Given the description of an element on the screen output the (x, y) to click on. 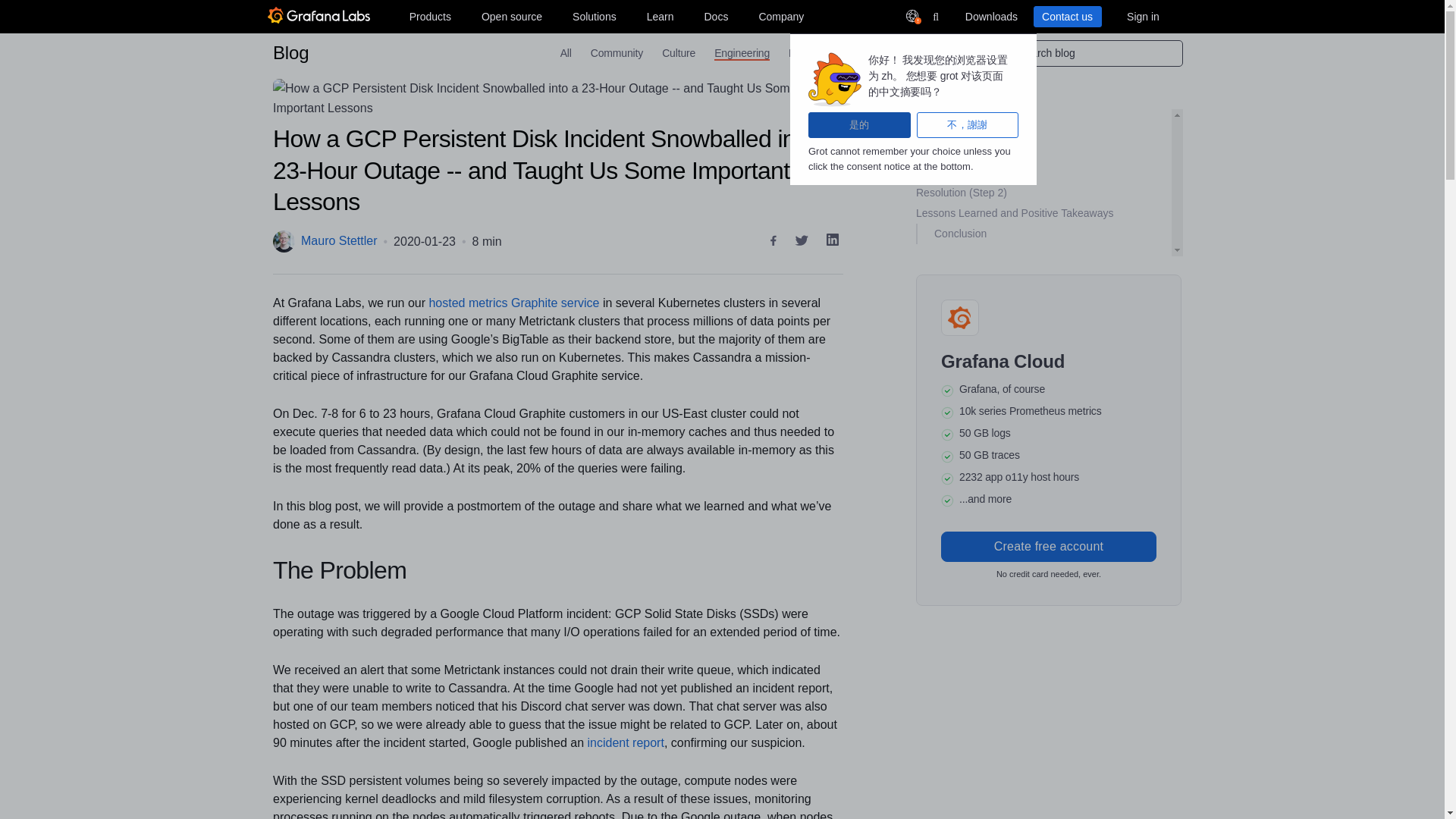
Downloads (990, 16)
Learn (660, 16)
Open source (512, 16)
Docs (715, 16)
Company (780, 16)
Sign in (1142, 16)
Contact us (1066, 16)
Products (429, 16)
Solutions (594, 16)
